Given the description of an element on the screen output the (x, y) to click on. 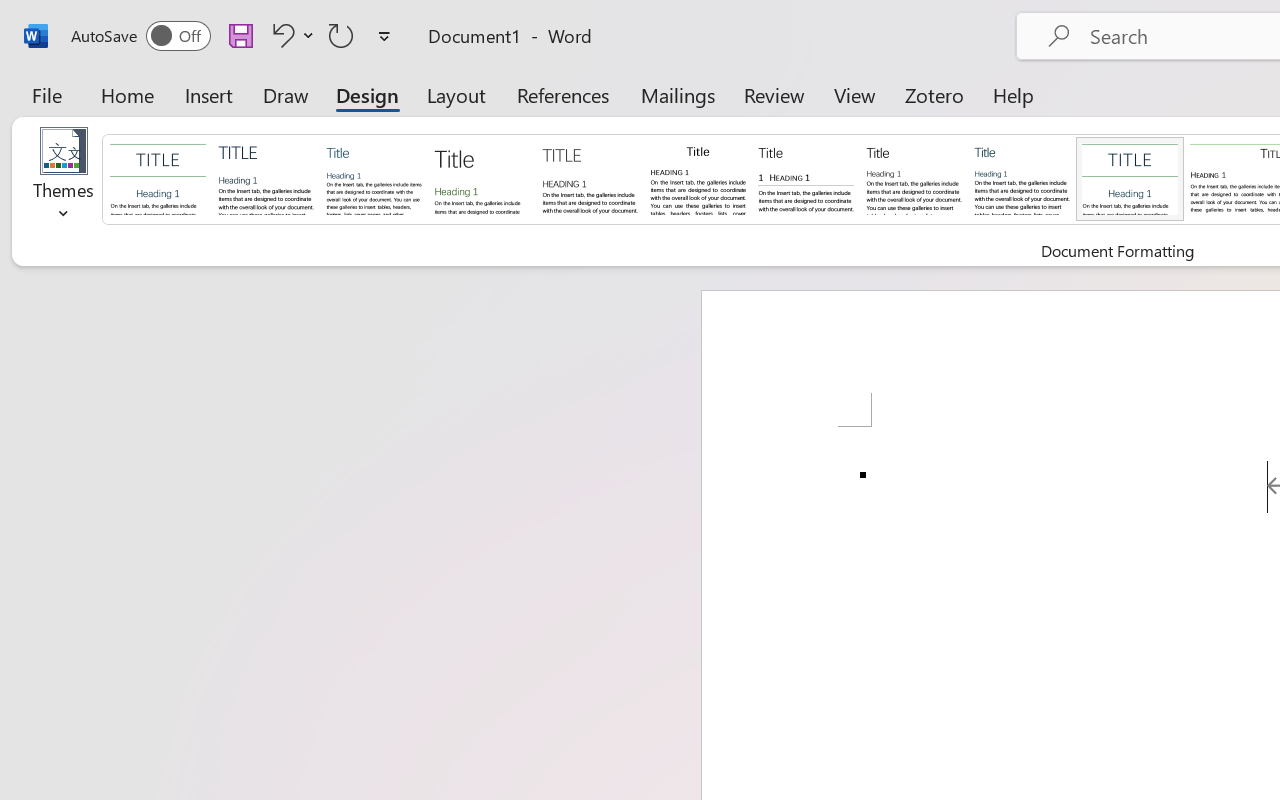
Black & White (Capitalized) (589, 178)
Basic (Simple) (373, 178)
